Given the description of an element on the screen output the (x, y) to click on. 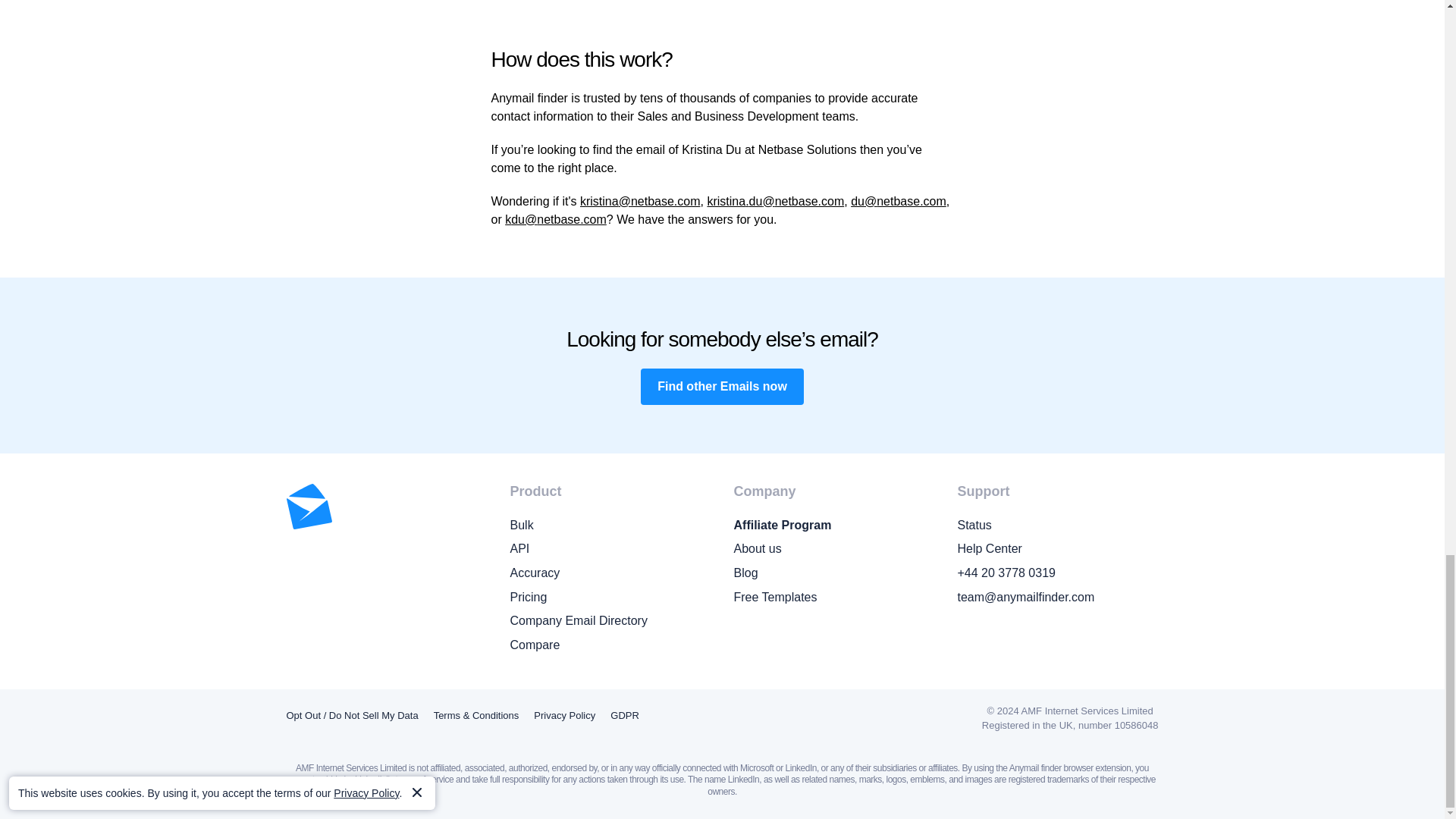
Pricing (609, 597)
Compare (609, 645)
Help Center (1056, 548)
Bulk (609, 525)
Free Templates (833, 597)
Find other Emails now (721, 386)
Company Email Directory (609, 620)
Status (1056, 525)
Blog (833, 573)
Affiliate Program (833, 525)
API (609, 548)
Accuracy (609, 573)
About us (833, 548)
